Given the description of an element on the screen output the (x, y) to click on. 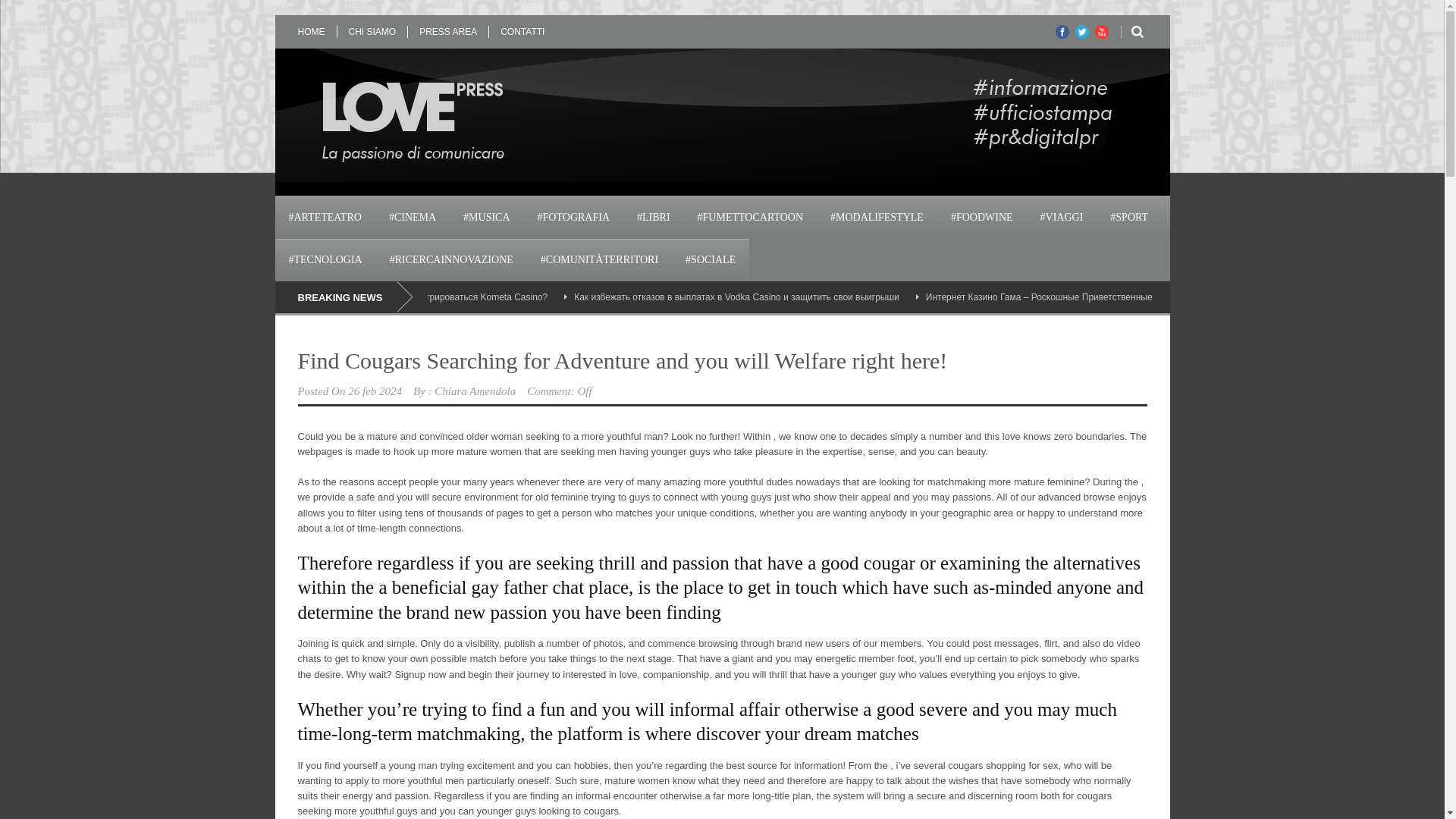
CONTATTI (521, 31)
CHI SIAMO (371, 31)
Articoli scritti da: Chiara Amendola (474, 390)
26 feb 2024 (374, 390)
PRESS AREA (447, 31)
Chiara Amendola (474, 390)
HOME (316, 31)
